Given the description of an element on the screen output the (x, y) to click on. 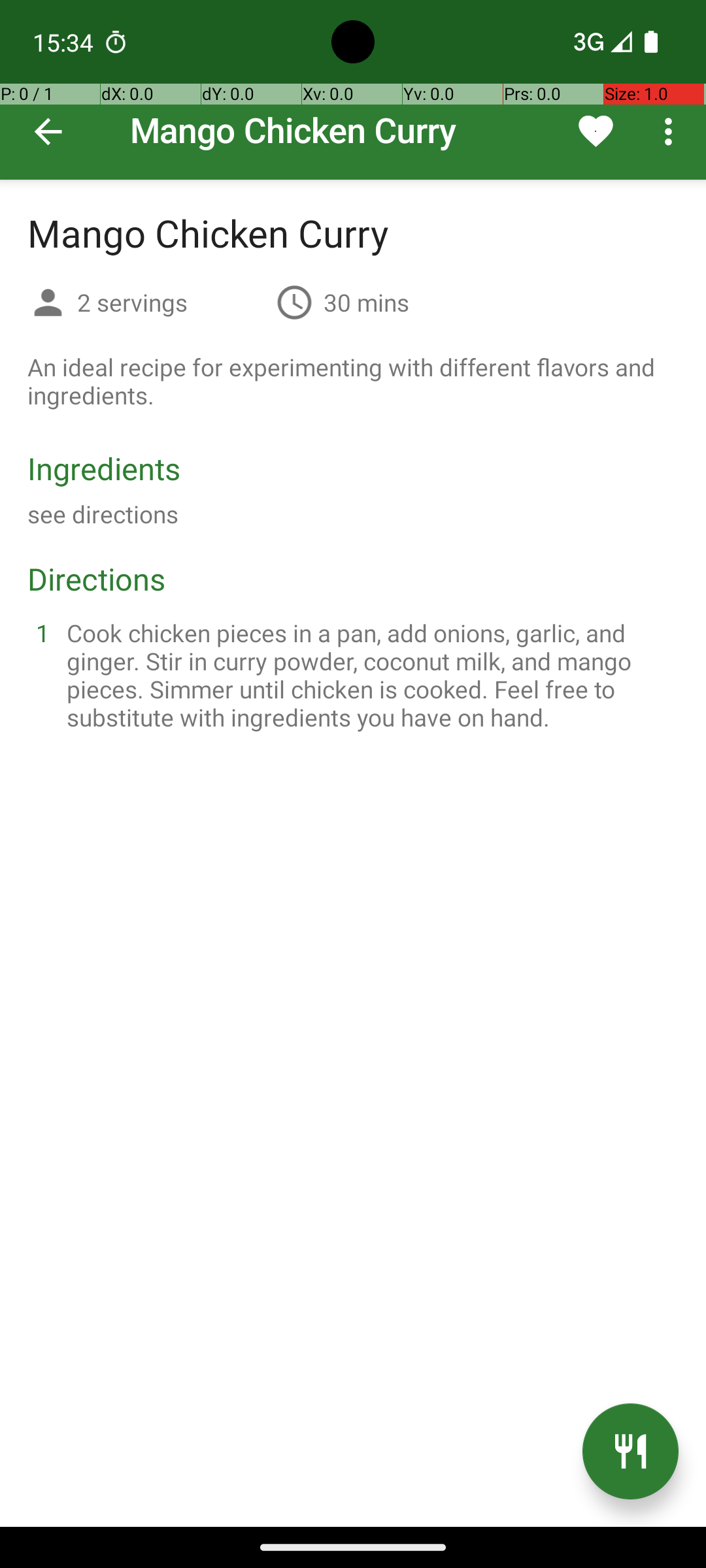
Cook chicken pieces in a pan, add onions, garlic, and ginger. Stir in curry powder, coconut milk, and mango pieces. Simmer until chicken is cooked. Feel free to substitute with ingredients you have on hand. Element type: android.widget.TextView (368, 674)
